Given the description of an element on the screen output the (x, y) to click on. 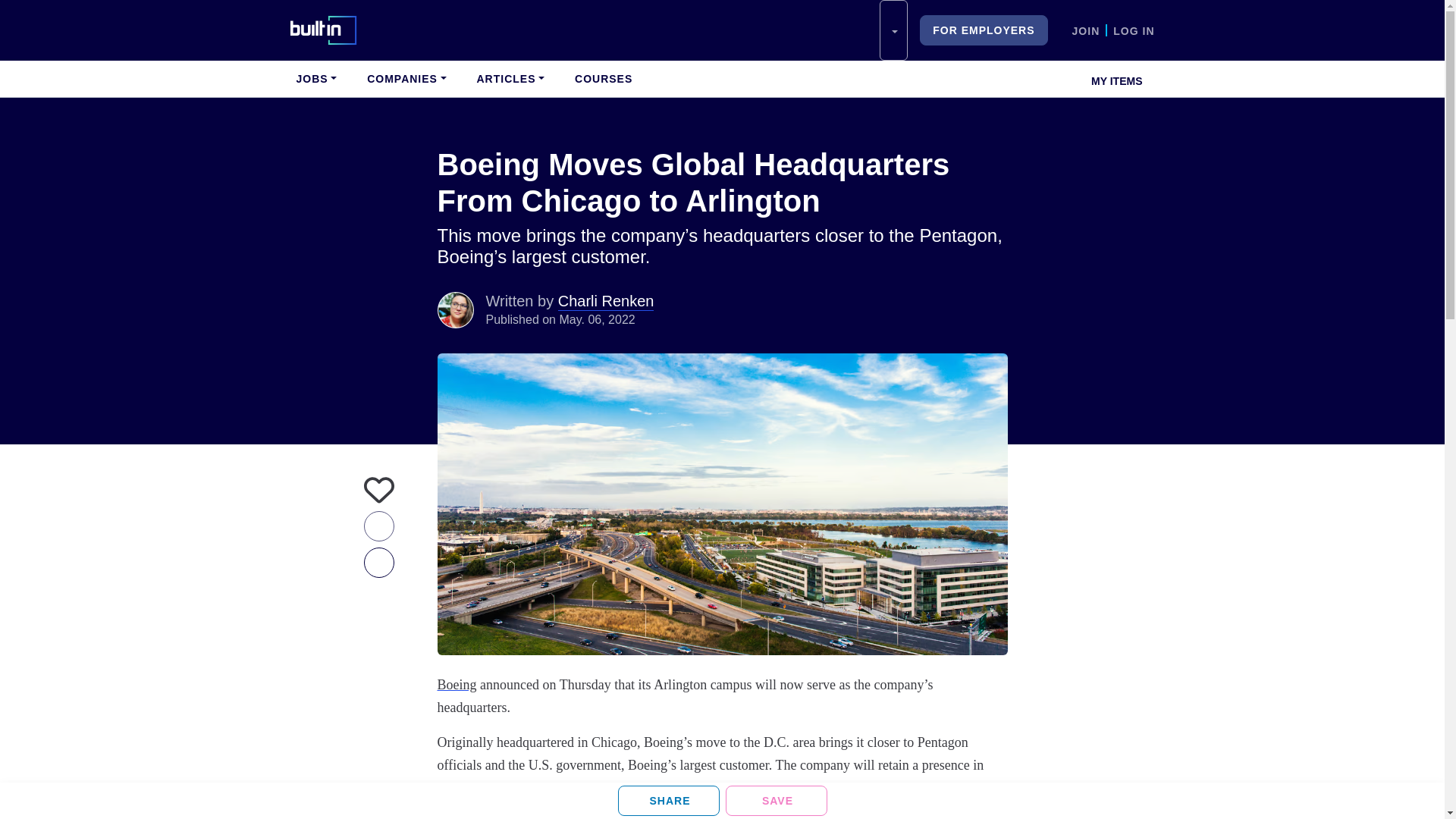
JOIN (1085, 30)
LOG IN (1133, 30)
ARTICLES (510, 78)
Share on LinkedIn (668, 800)
COMPANIES (406, 78)
FOR EMPLOYERS (983, 30)
JOBS (315, 78)
Charli Renken (455, 309)
